Given the description of an element on the screen output the (x, y) to click on. 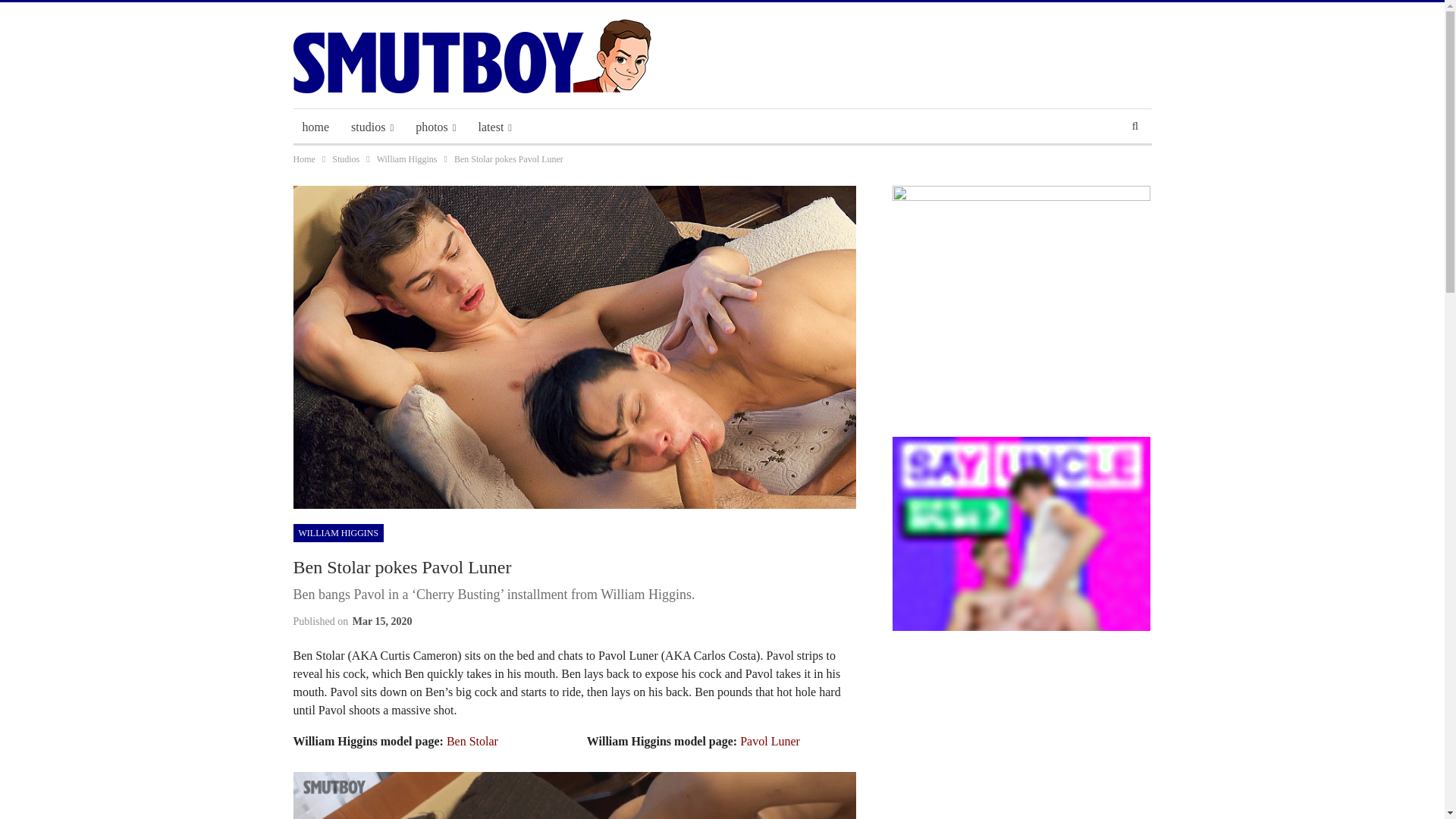
photos (435, 126)
studios (372, 126)
latest (494, 126)
home (314, 126)
Ben Stolar pokes Pavol Luner 1 (574, 795)
